Given the description of an element on the screen output the (x, y) to click on. 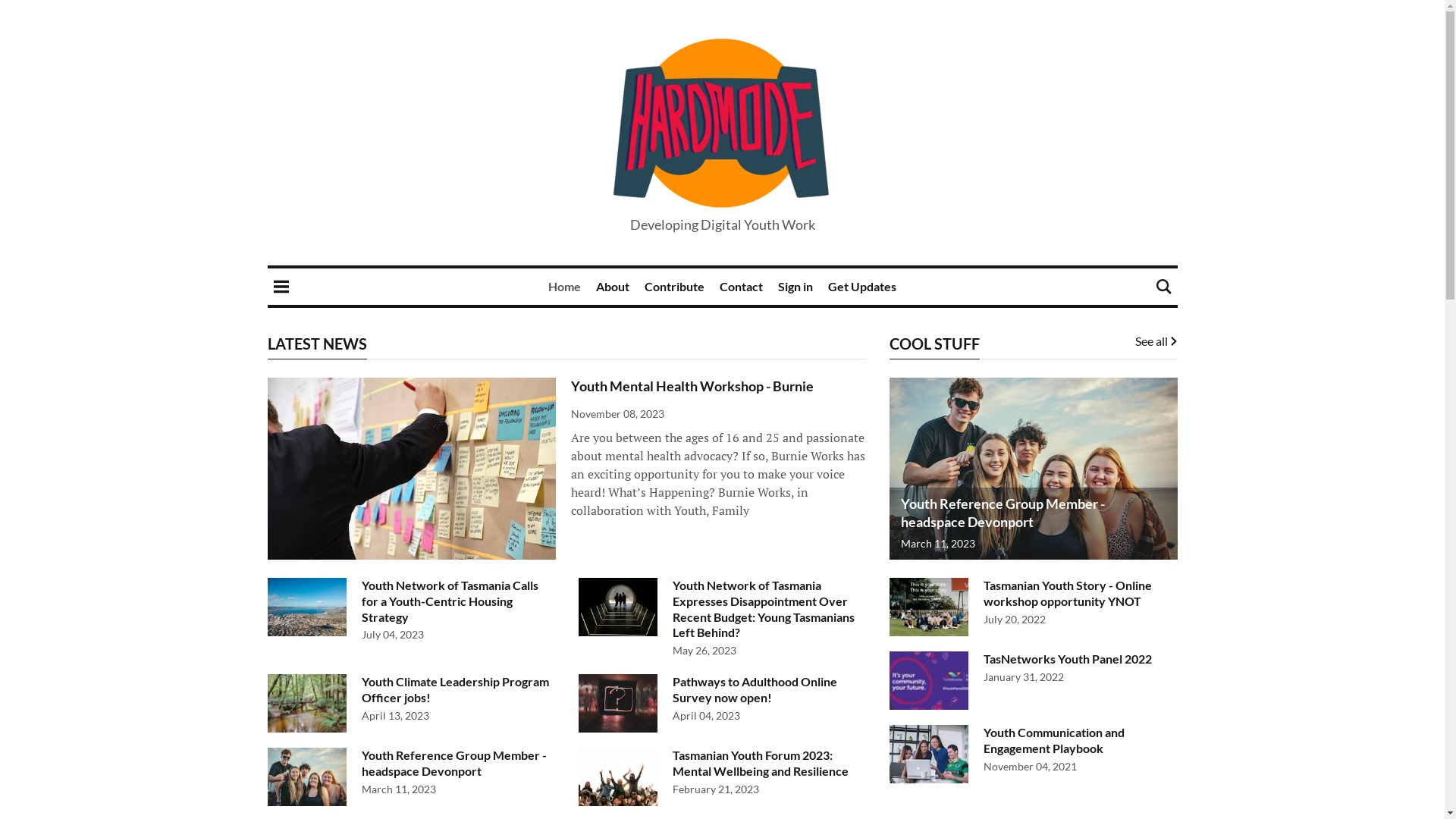
Tasmanian Youth Story - Online workshop opportunity YNOT Element type: text (1066, 592)
Pathways to Adulthood Online Survey now open! Element type: text (753, 689)
Contribute Element type: text (674, 286)
Youth Reference Group Member - headspace Devonport Element type: text (453, 762)
Sign in Element type: text (795, 286)
Tasmanian Youth Forum 2023: Mental Wellbeing and Resilience Element type: text (759, 762)
See all Element type: text (1155, 341)
Youth Mental Health Workshop - Burnie Element type: text (691, 385)
Youth Climate Leadership Program Officer jobs! Element type: text (454, 689)
Contact Element type: text (740, 286)
TasNetworks Youth Panel 2022 Element type: text (1066, 658)
About Element type: text (612, 286)
Youth Communication and Engagement Playbook Element type: text (1052, 739)
Home Element type: text (564, 286)
Get Updates Element type: text (862, 286)
